Given the description of an element on the screen output the (x, y) to click on. 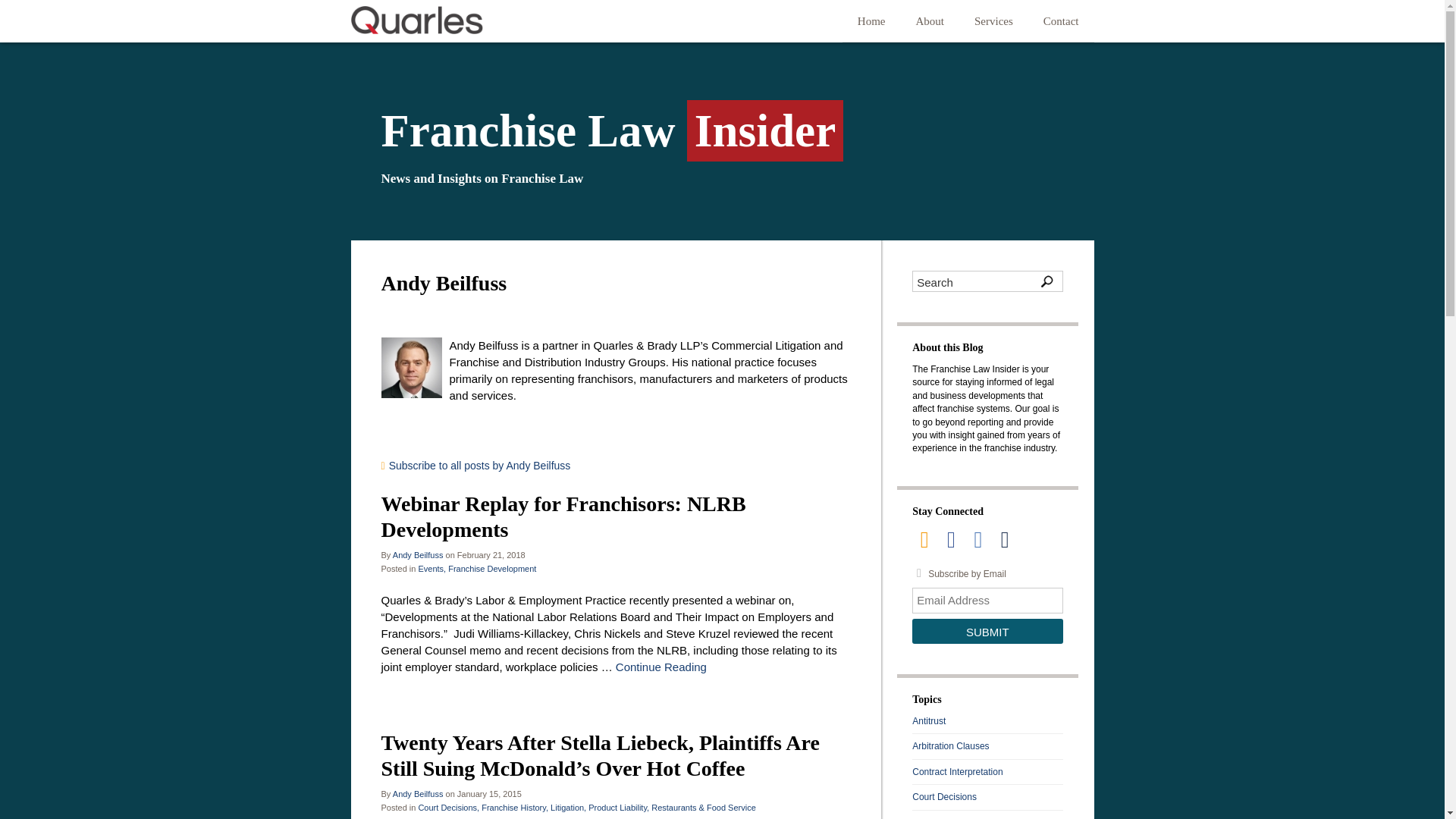
Court Decisions, (448, 807)
About (930, 21)
Contact (1060, 21)
Go (1045, 281)
Andy Beilfuss (418, 793)
Franchise Law Insider (721, 134)
Litigation, (568, 807)
Go (1045, 281)
Home (872, 21)
Events, (431, 568)
Andy Beilfuss (418, 554)
Webinar Replay for Franchisors: NLRB Developments (562, 516)
Go (1045, 281)
Webinar Replay for Franchisors: NLRB Developments (562, 516)
Subscribe to all posts by Andy Beilfuss (615, 466)
